Given the description of an element on the screen output the (x, y) to click on. 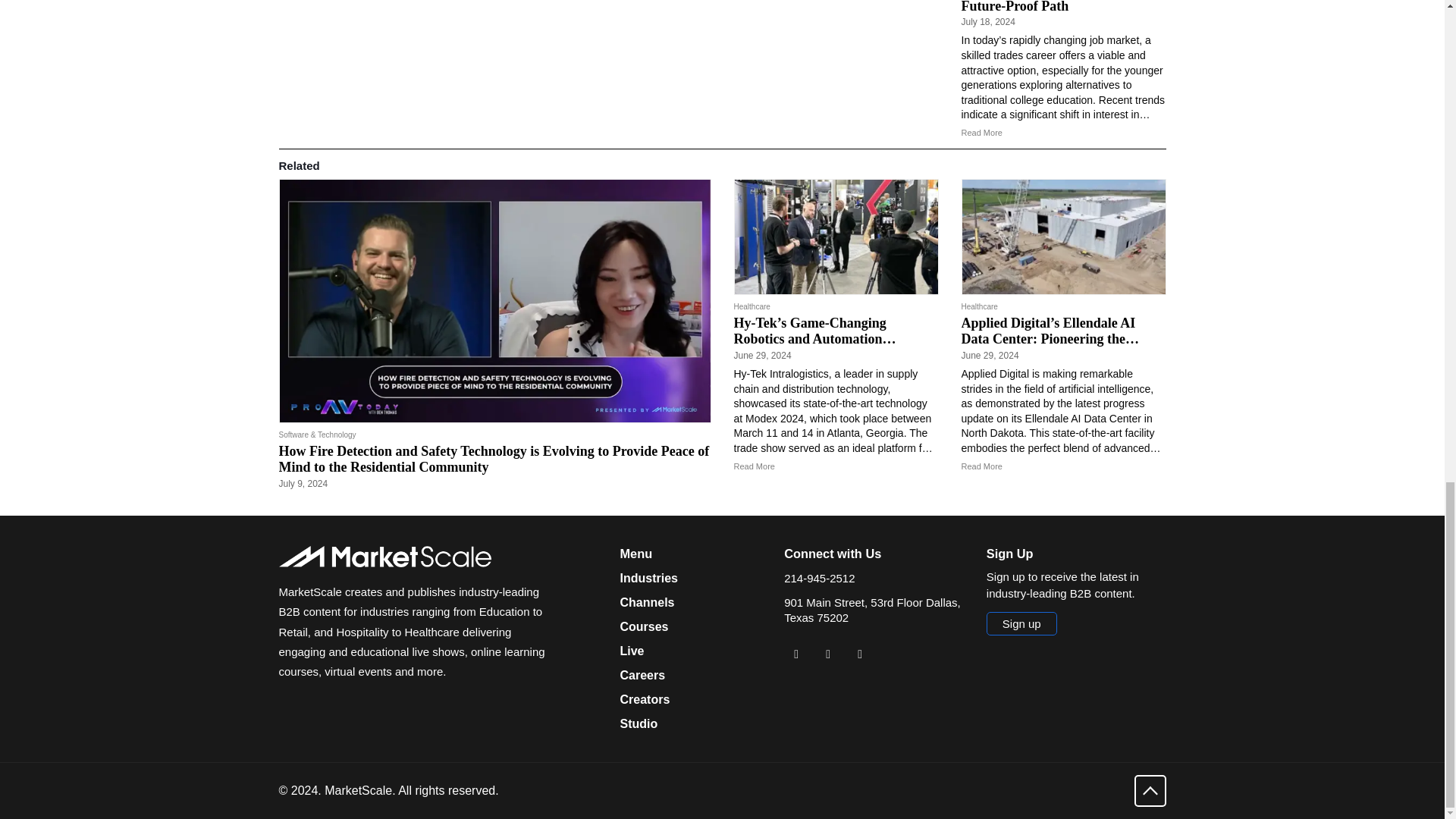
Share on Instagram (859, 654)
Share on Linkedin (796, 654)
Share on X (827, 654)
